Given the description of an element on the screen output the (x, y) to click on. 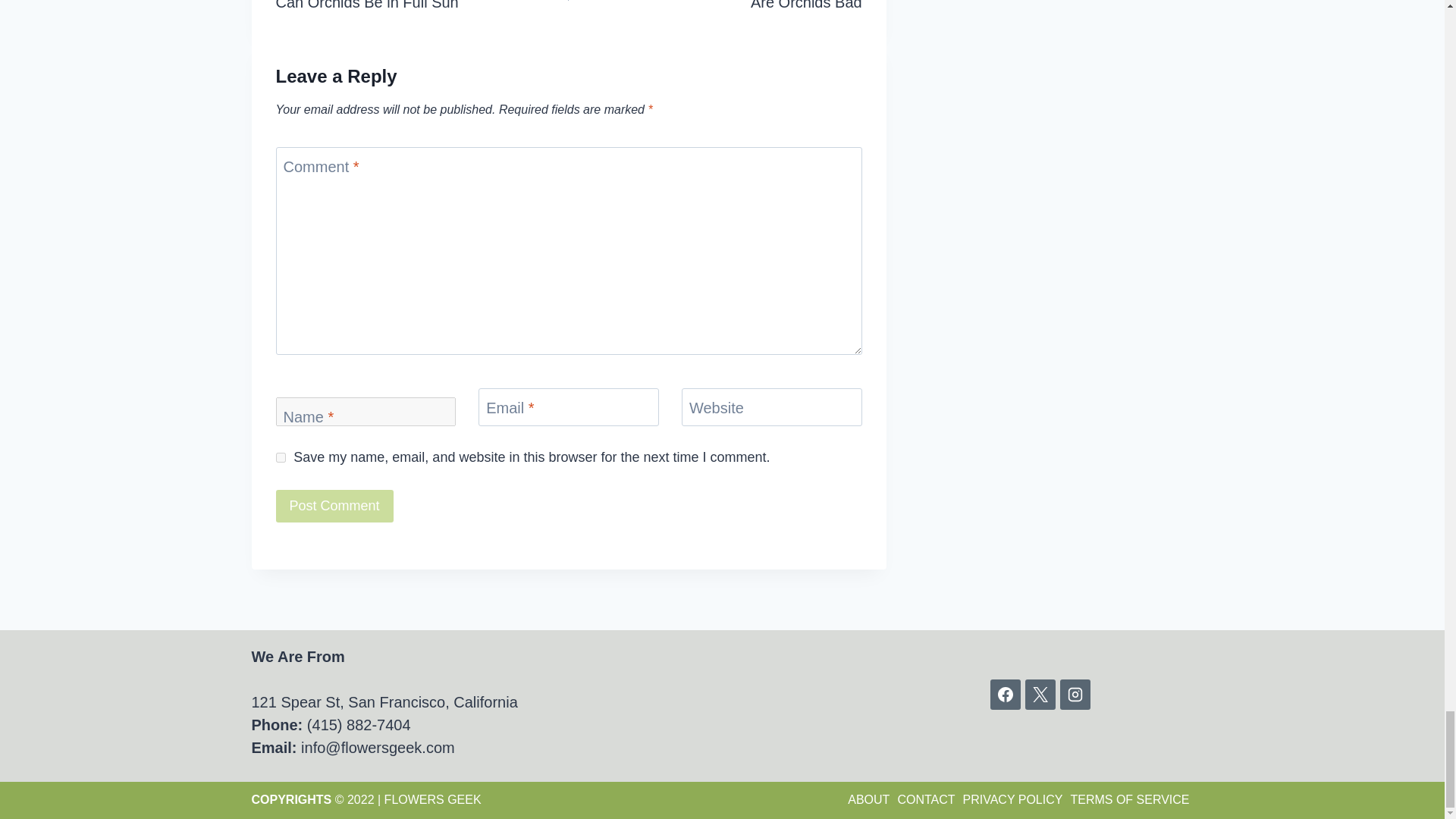
yes (280, 457)
Post Comment (715, 7)
Post Comment (422, 7)
